Given the description of an element on the screen output the (x, y) to click on. 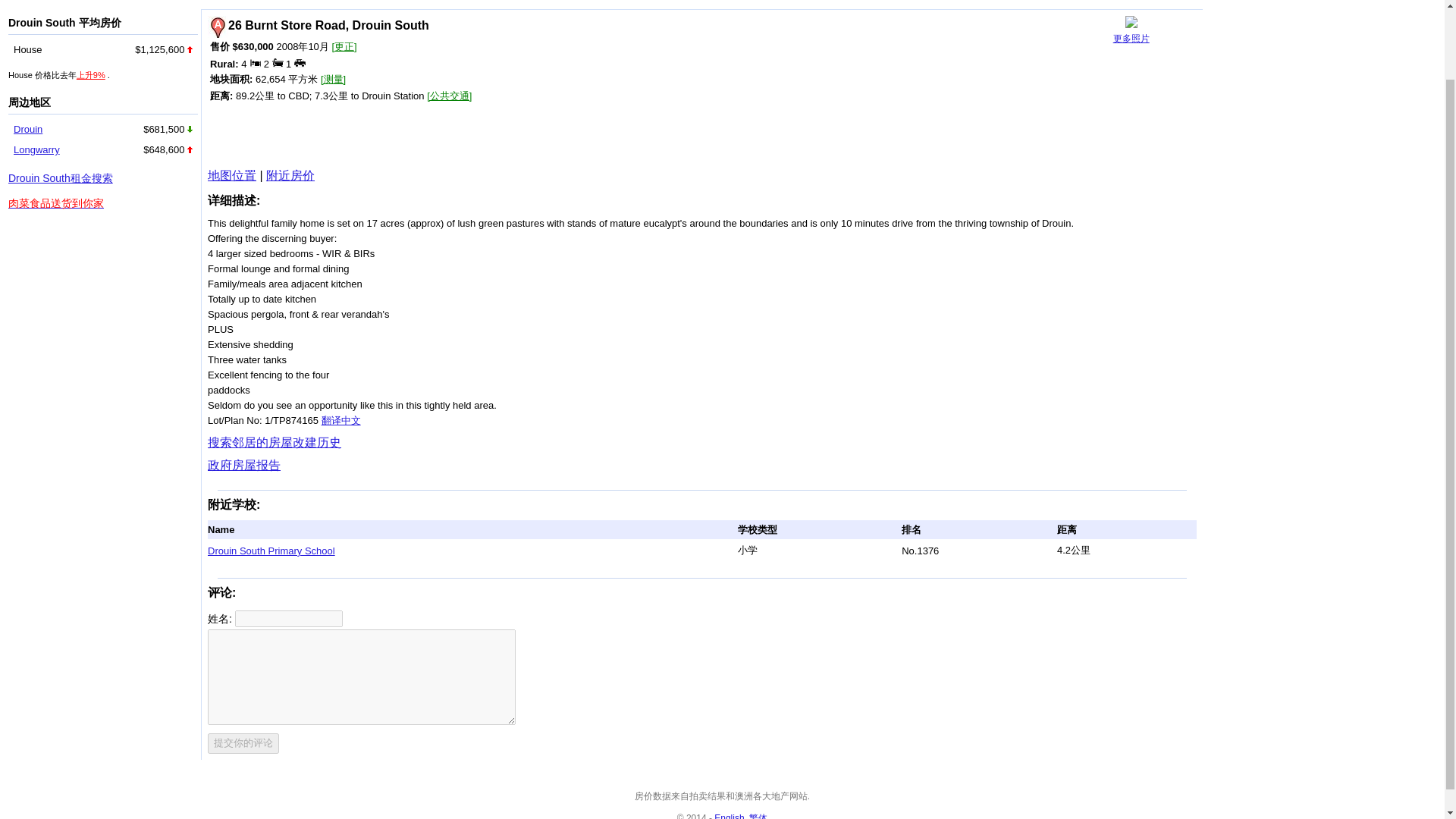
Drouin South Primary School (271, 550)
Longwarry (36, 149)
Drouin (27, 129)
Advertisement (382, 134)
